Given the description of an element on the screen output the (x, y) to click on. 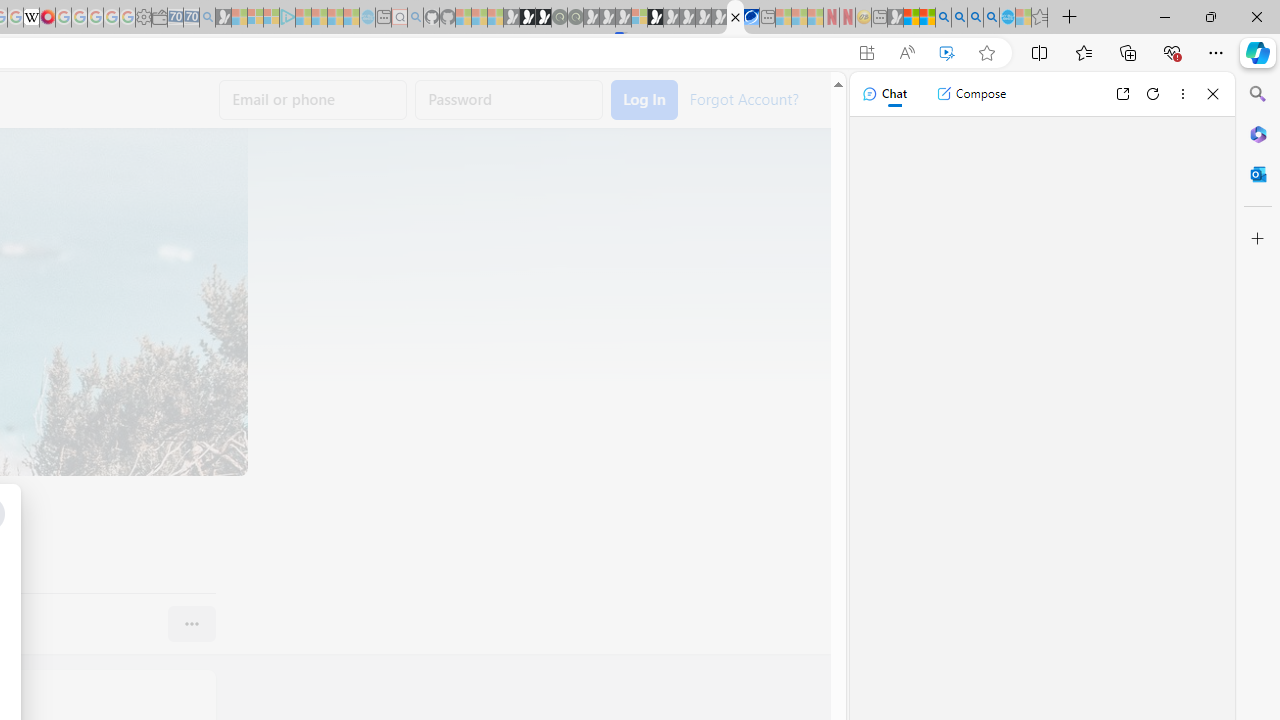
2009 Bing officially replaced Live Search on June 3 - Search (959, 17)
App available. Install Facebook (867, 53)
Google Chrome Internet Browser Download - Search Images (991, 17)
